Given the description of an element on the screen output the (x, y) to click on. 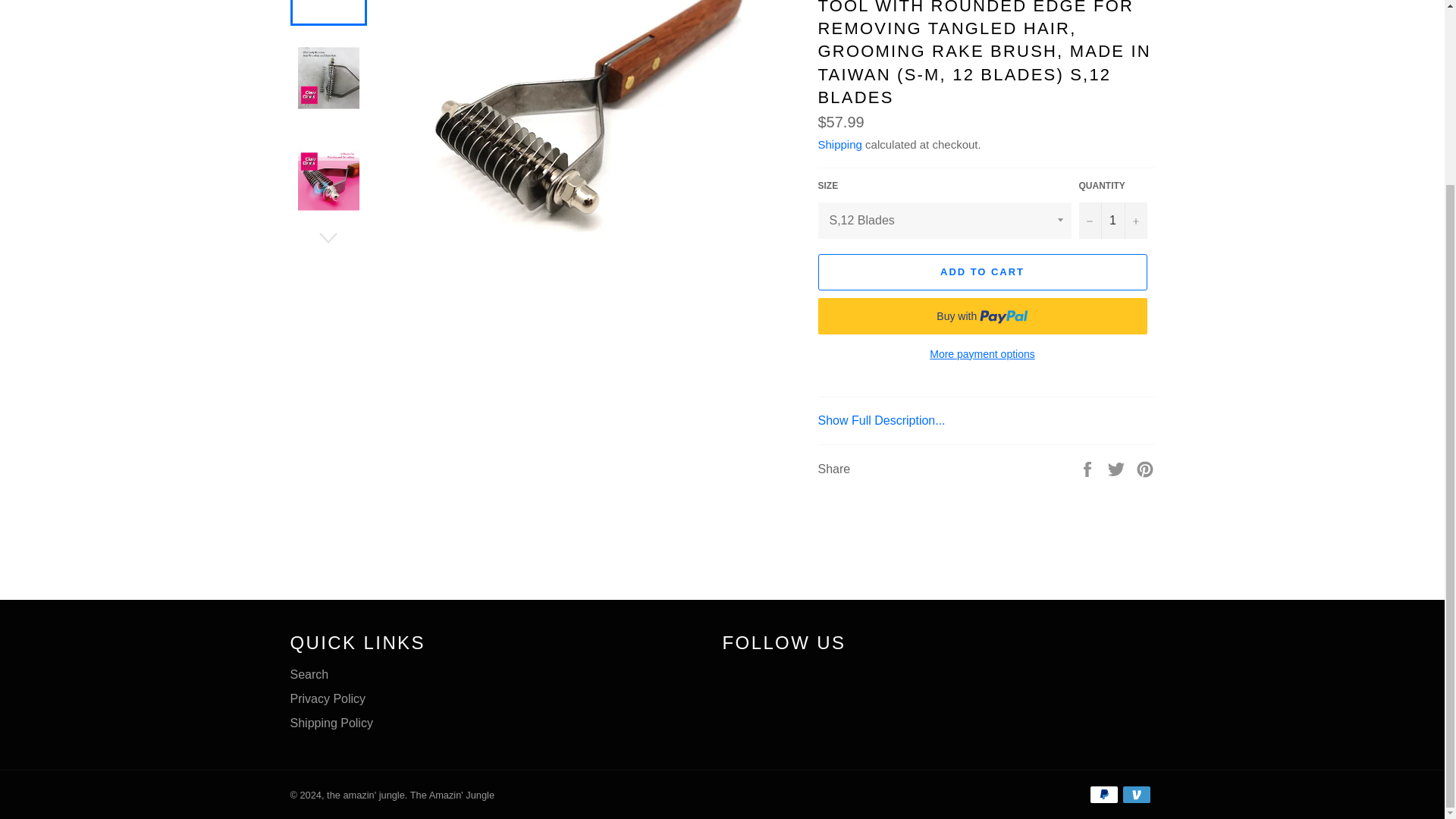
Pin on Pinterest (1144, 468)
Tweet on Twitter (1117, 468)
1 (1112, 220)
Share on Facebook (1088, 468)
